Given the description of an element on the screen output the (x, y) to click on. 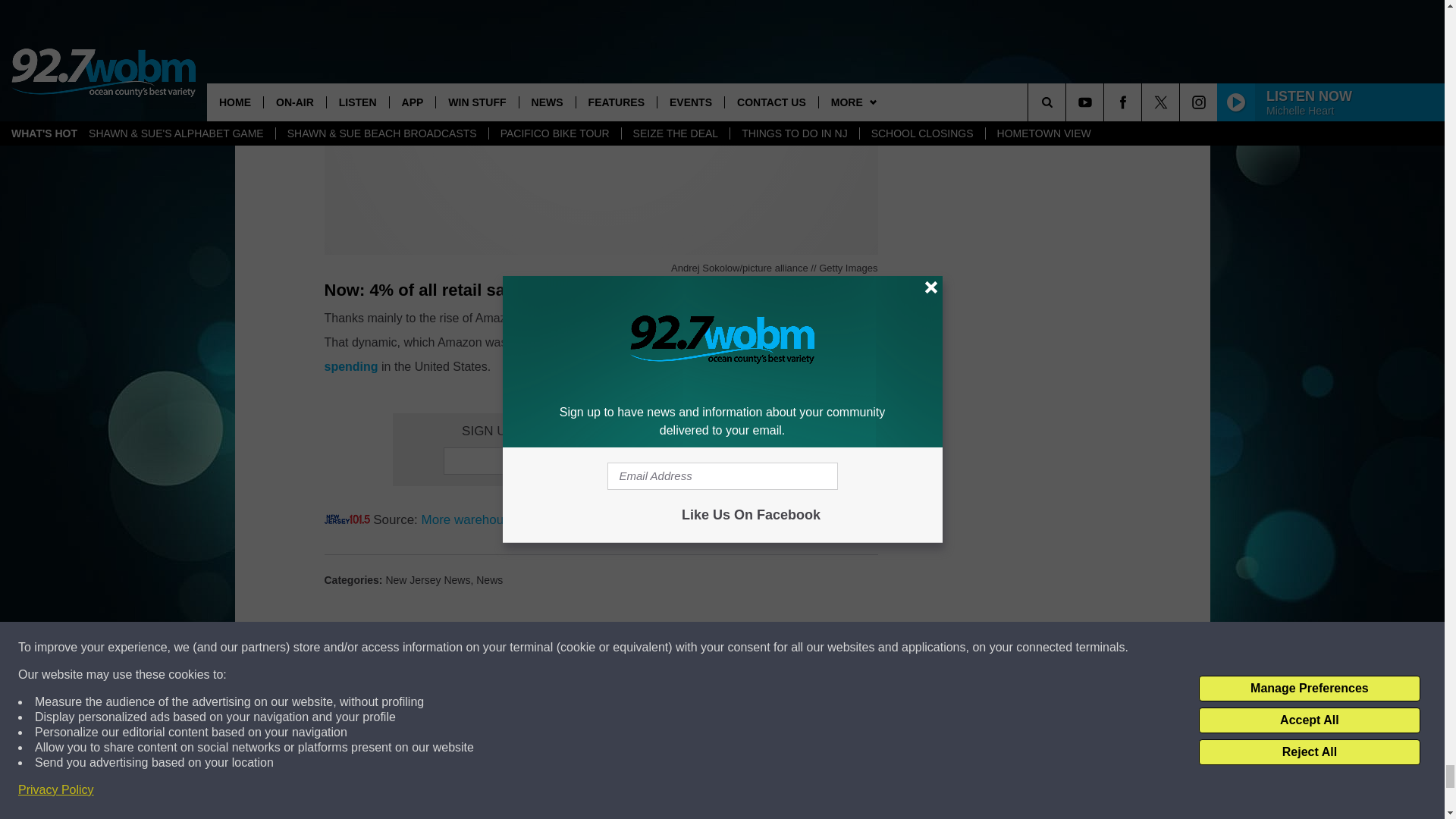
Email Address (600, 461)
